Given the description of an element on the screen output the (x, y) to click on. 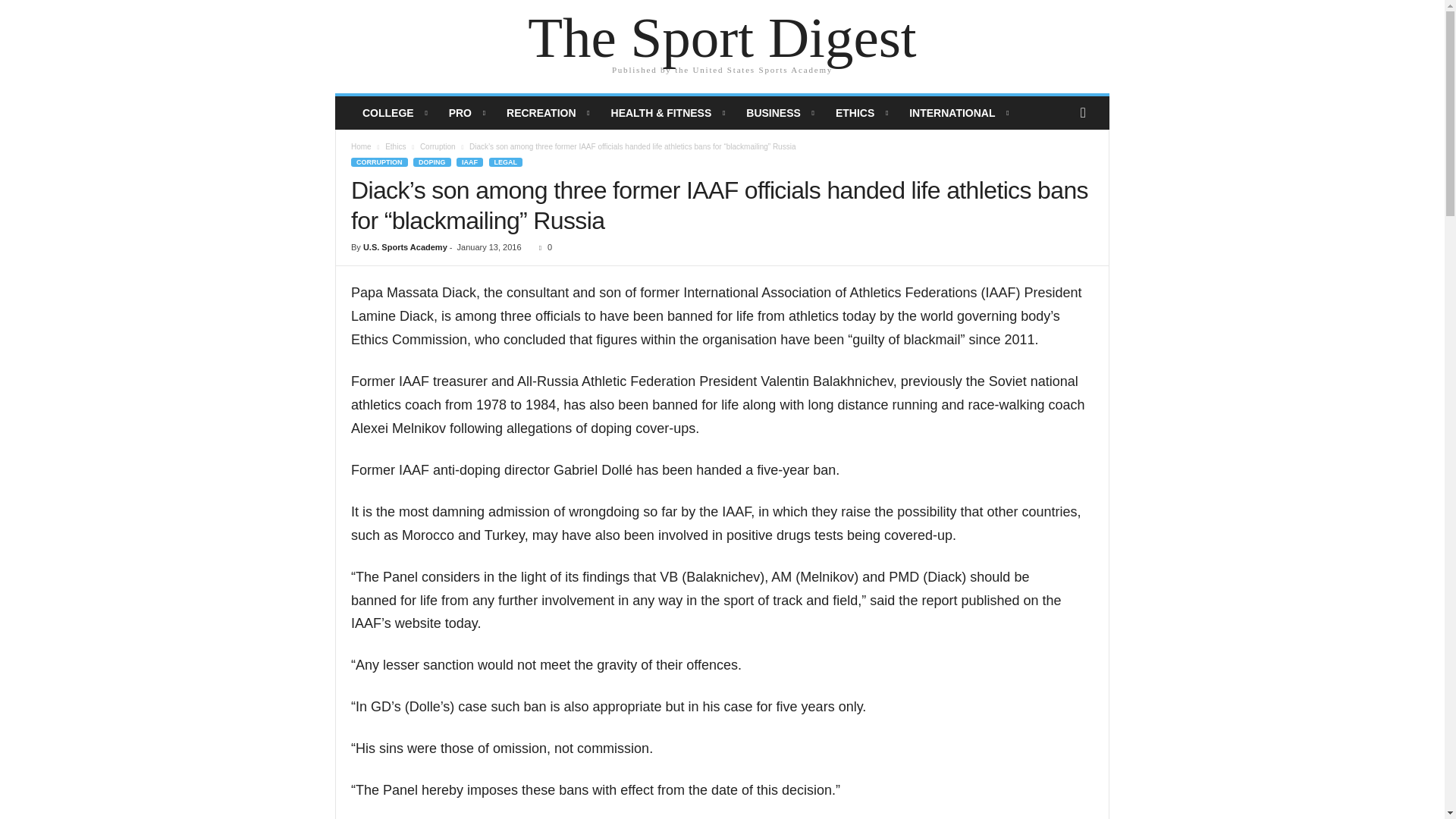
View all posts in Corruption (437, 146)
View all posts in Ethics (395, 146)
